Given the description of an element on the screen output the (x, y) to click on. 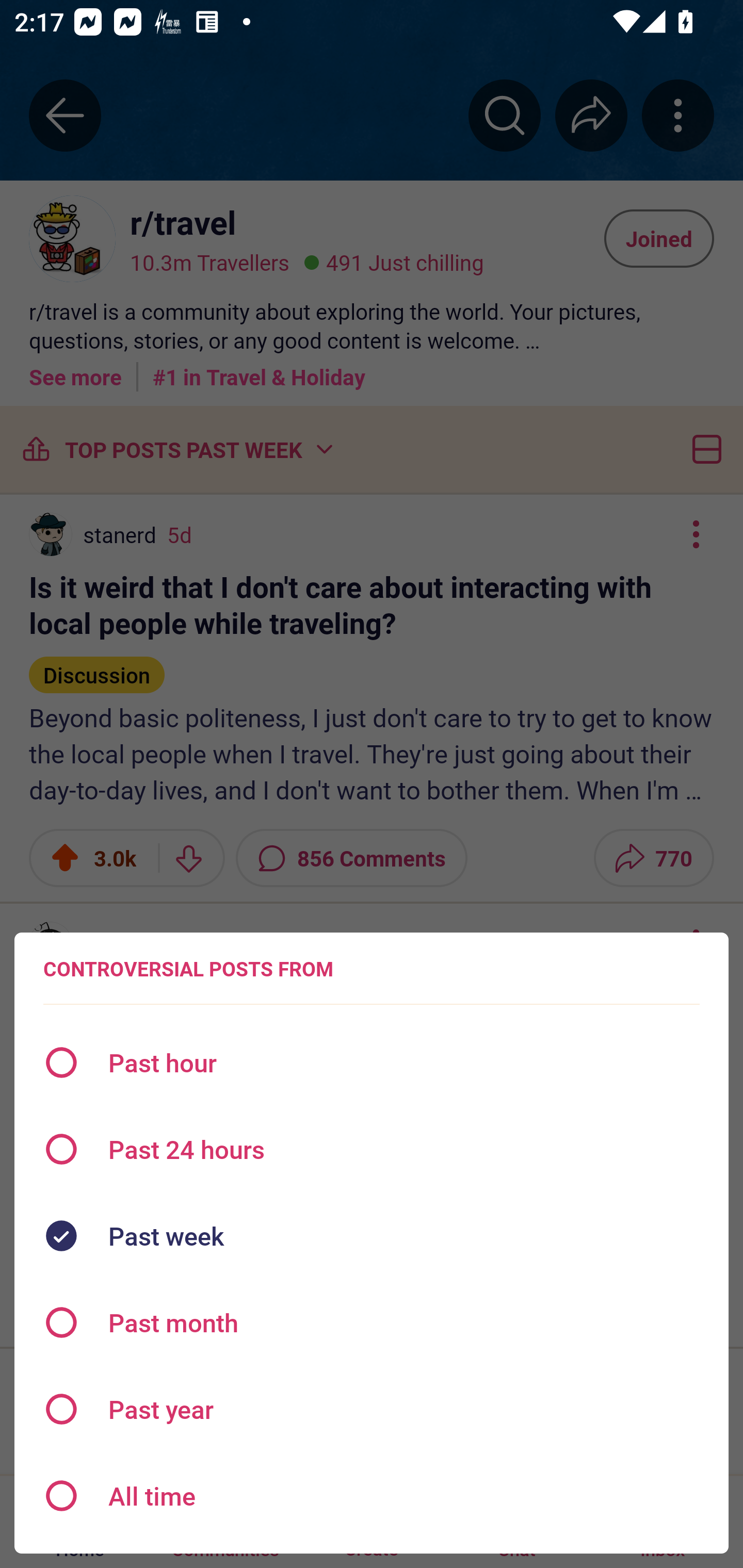
CONTROVERSIAL POSTS FROM (188, 968)
Past hour (371, 1062)
Past 24 hours (371, 1149)
Past week (371, 1236)
Past month (371, 1322)
Past year (371, 1408)
All time (371, 1495)
